Given the description of an element on the screen output the (x, y) to click on. 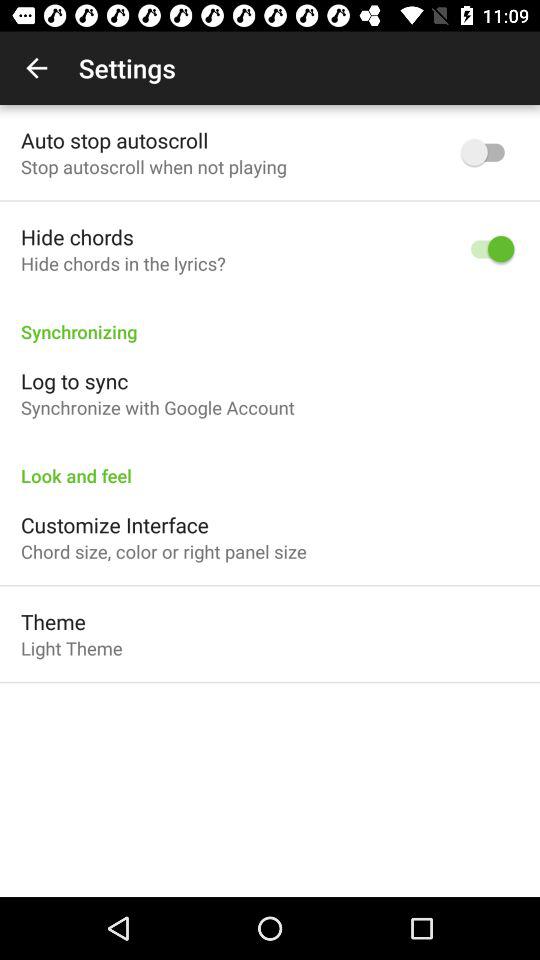
press the item below log to sync (157, 407)
